Given the description of an element on the screen output the (x, y) to click on. 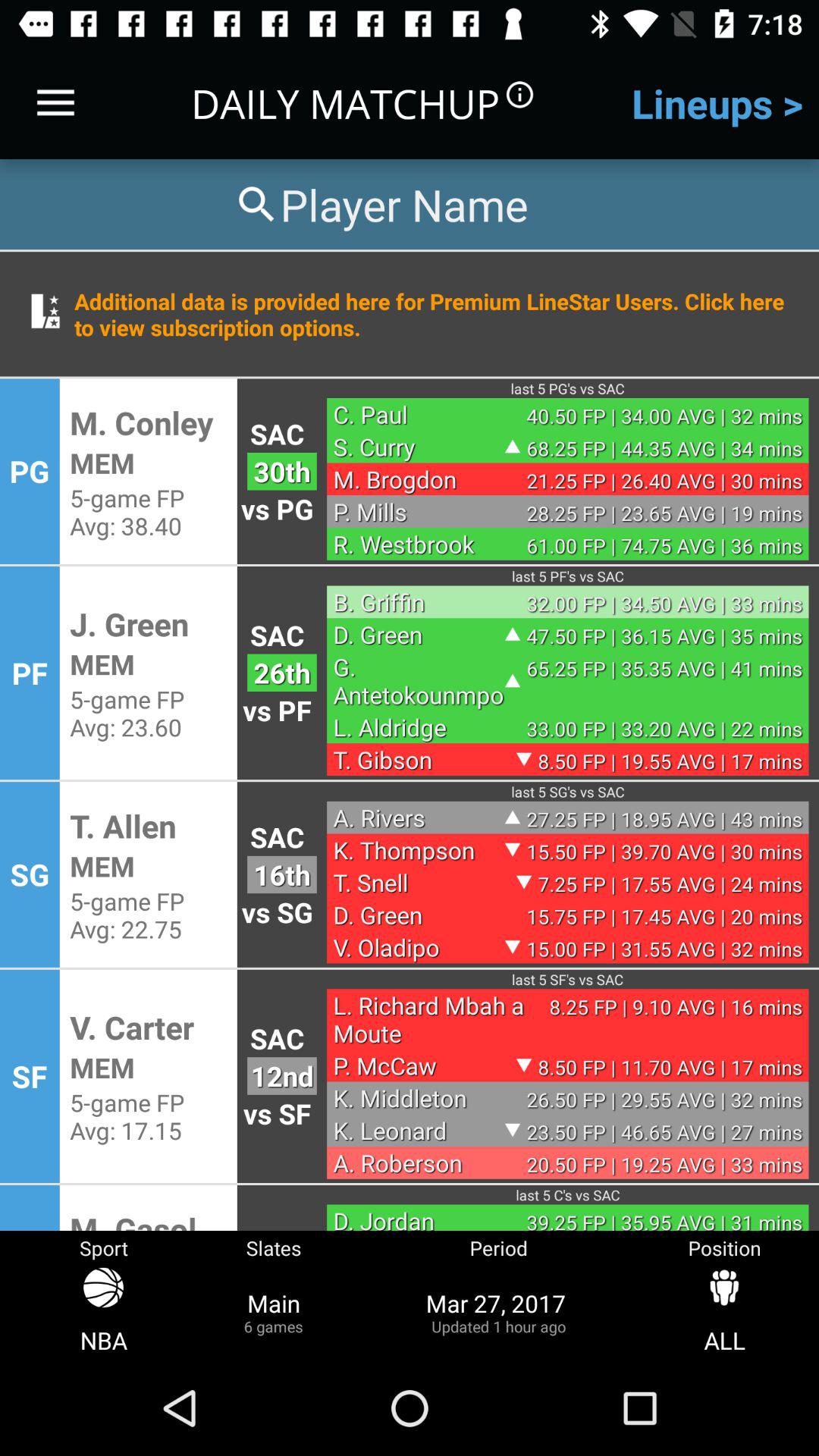
search icon for player name (380, 204)
